Given the description of an element on the screen output the (x, y) to click on. 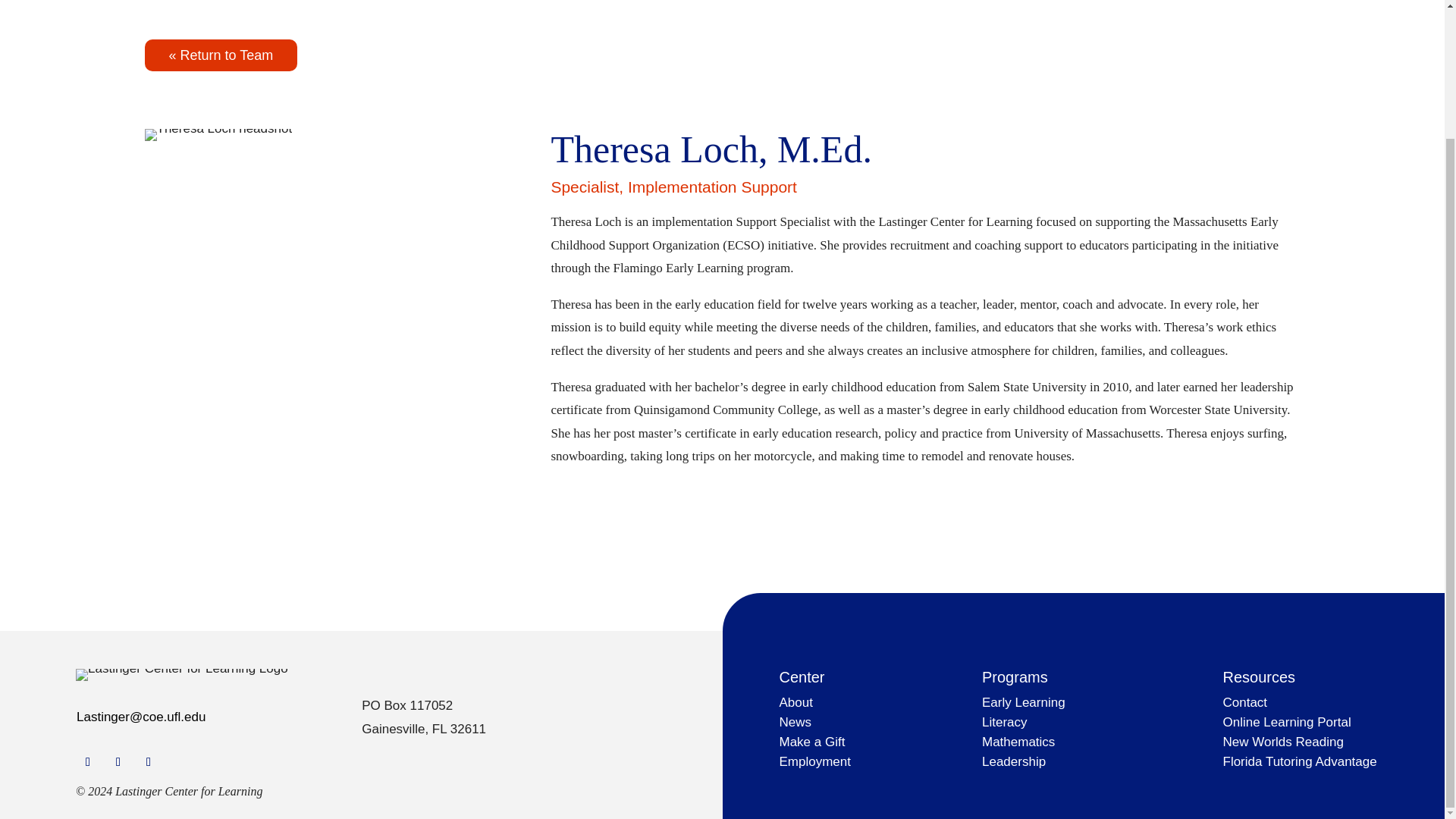
Follow on LinkedIn (148, 761)
Follow on Facebook (87, 761)
Theresa Loch (218, 134)
Follow on Twitter (118, 761)
